Given the description of an element on the screen output the (x, y) to click on. 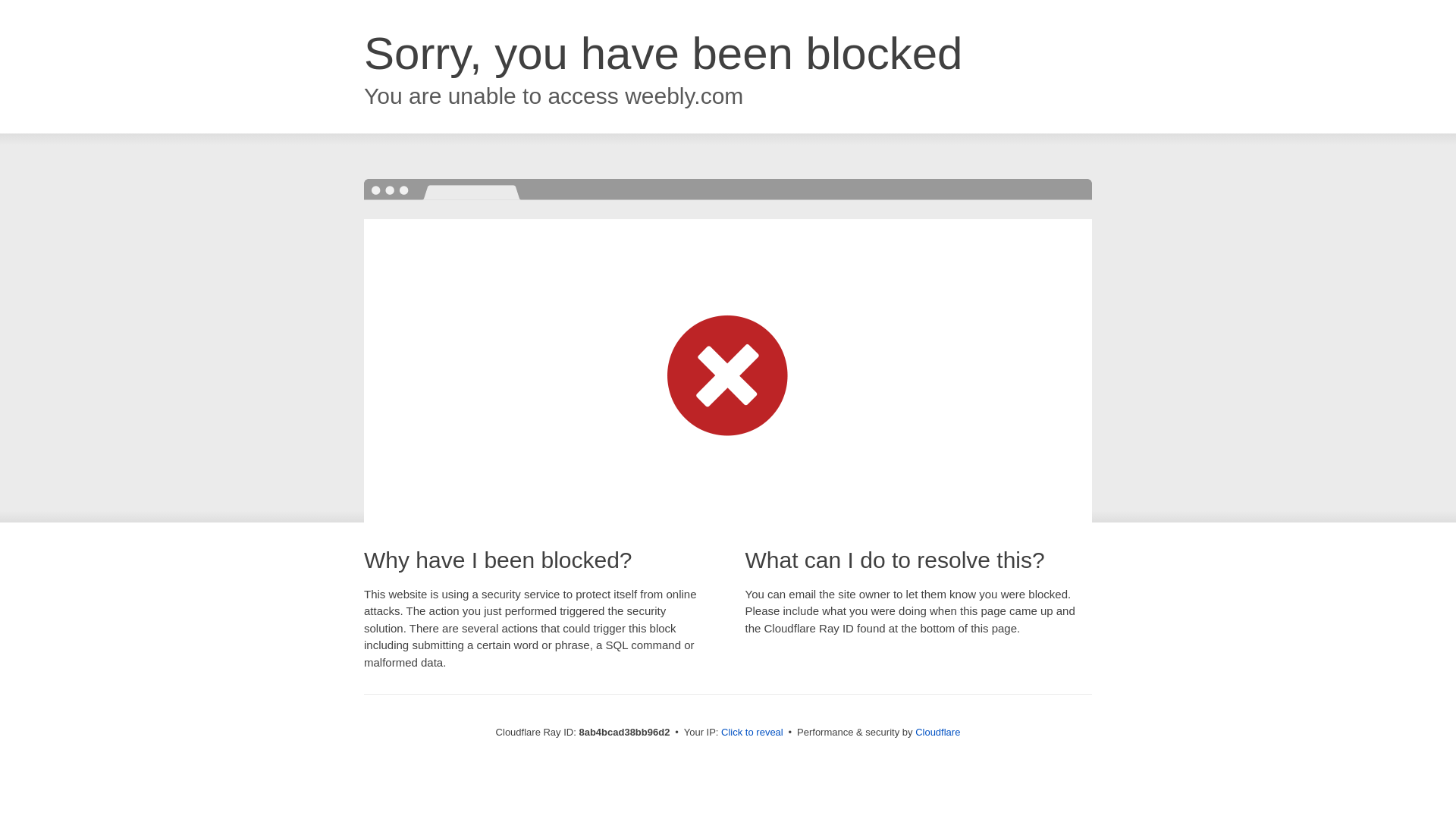
Click to reveal (751, 732)
Cloudflare (937, 731)
